Given the description of an element on the screen output the (x, y) to click on. 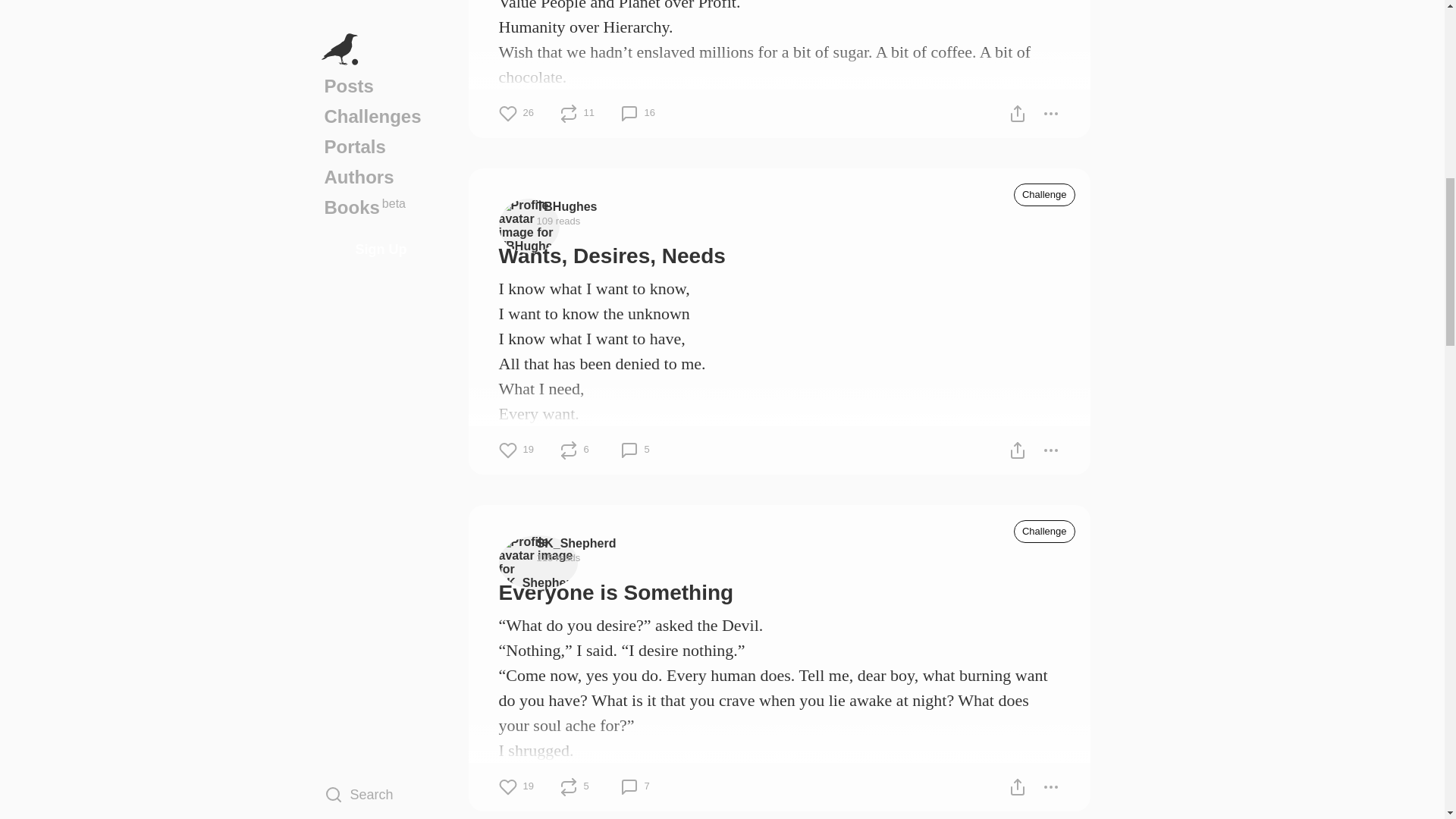
Challenge (1044, 194)
TBHughes (566, 205)
Challenge (1044, 531)
